Given the description of an element on the screen output the (x, y) to click on. 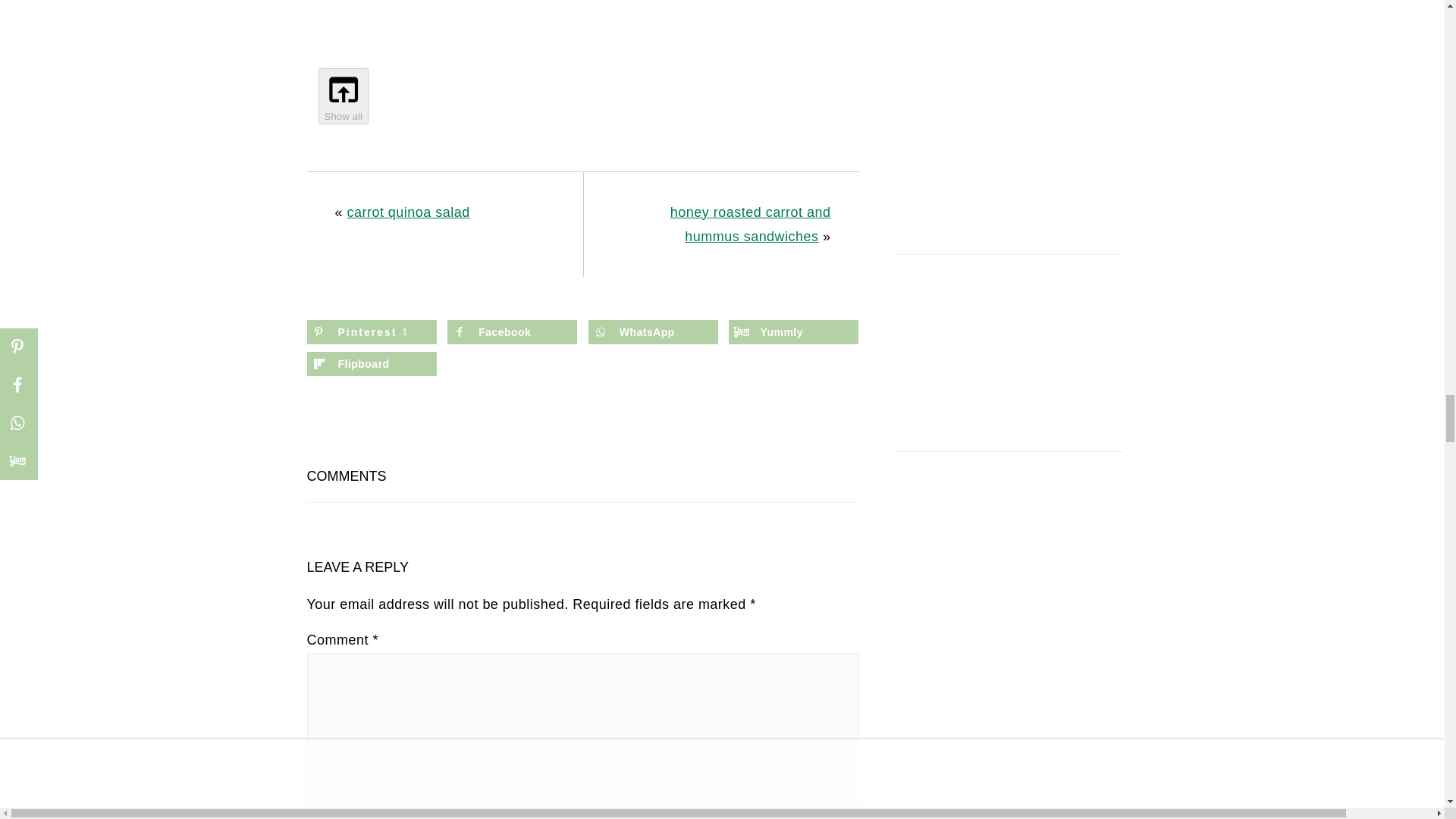
Share on WhatsApp (652, 331)
Share on Facebook (511, 331)
Save to Pinterest (370, 331)
Share on Yummly (794, 331)
Share on Flipboard (370, 363)
